Given the description of an element on the screen output the (x, y) to click on. 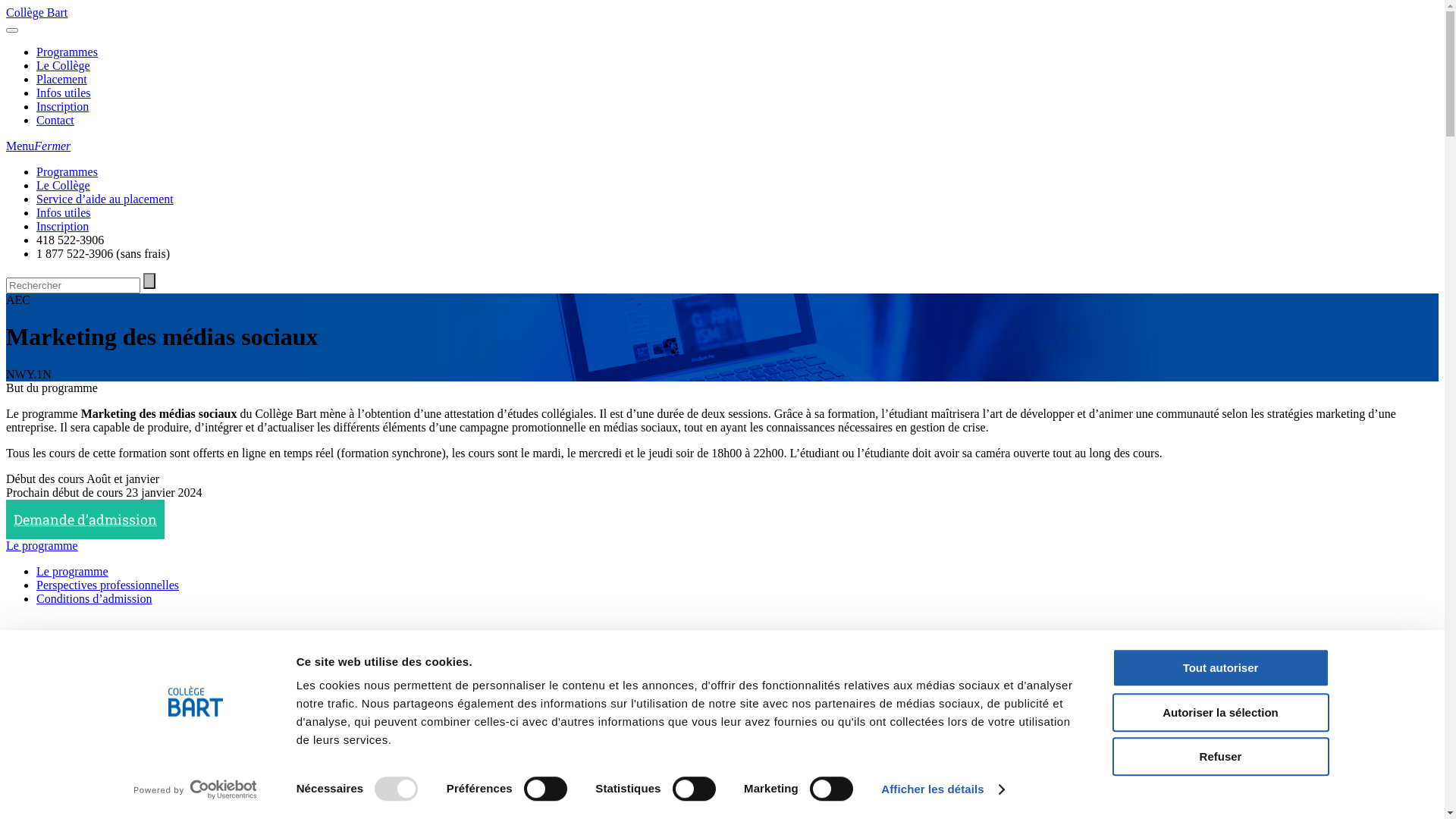
MenuFermer Element type: text (38, 145)
Placement Element type: text (61, 78)
Tout autoriser Element type: text (1219, 667)
Programmes Element type: text (66, 171)
Contact Element type: text (55, 119)
Perspectives professionnelles Element type: text (107, 584)
Infos utiles Element type: text (63, 92)
Inscription Element type: text (62, 225)
Inscription Element type: text (62, 106)
Le programme Element type: text (42, 545)
Programmes Element type: text (66, 51)
Le programme Element type: text (72, 570)
Infos utiles Element type: text (63, 212)
Refuser Element type: text (1219, 756)
